Given the description of an element on the screen output the (x, y) to click on. 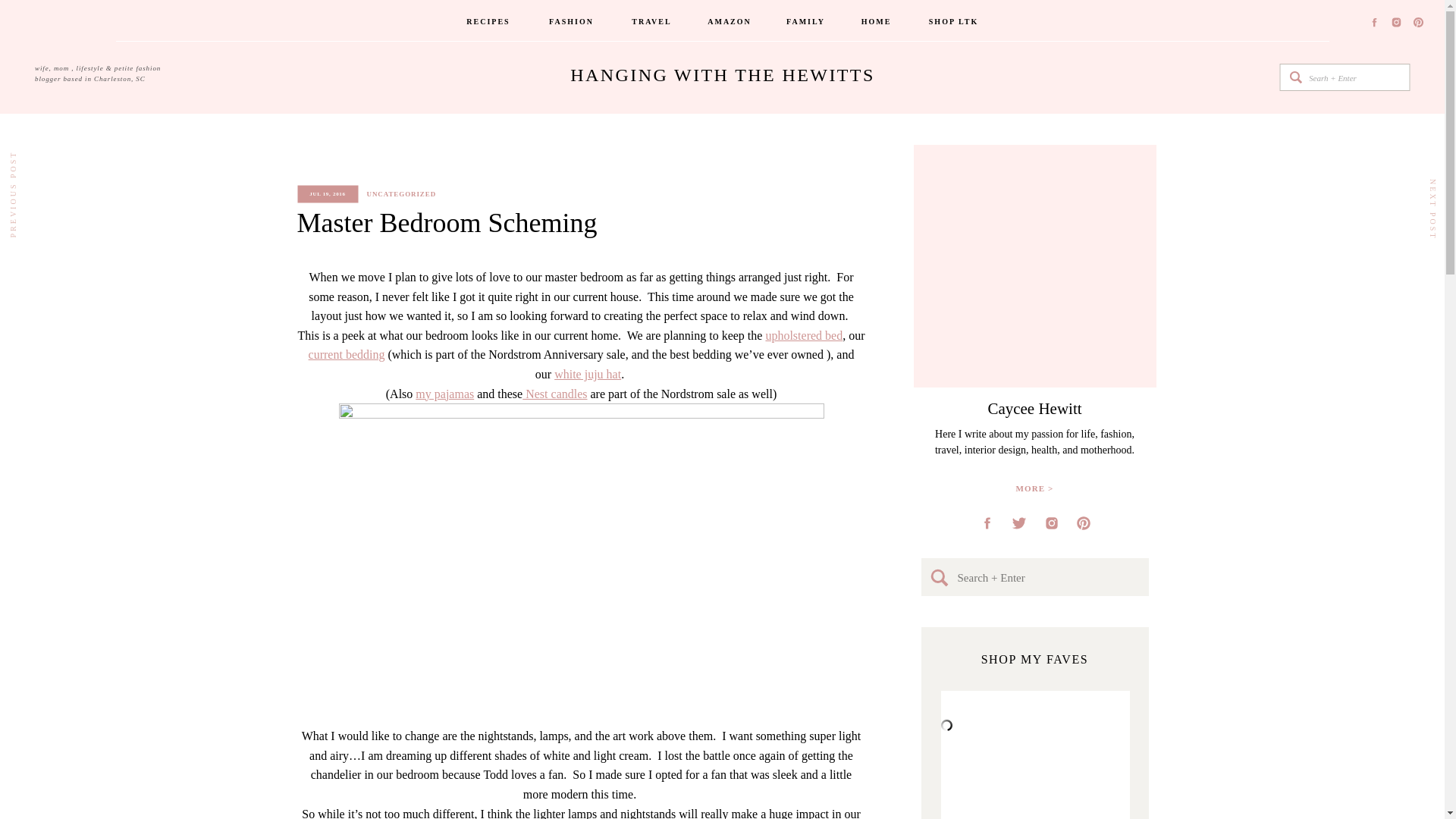
white juju hat (587, 373)
upholstered bed (804, 335)
TRAVEL (650, 23)
FASHION (571, 23)
UNCATEGORIZED (401, 194)
current bedding (346, 354)
my pajamas (444, 393)
SHOP LTK (953, 23)
AMAZON (729, 23)
Nest candles (554, 393)
